Given the description of an element on the screen output the (x, y) to click on. 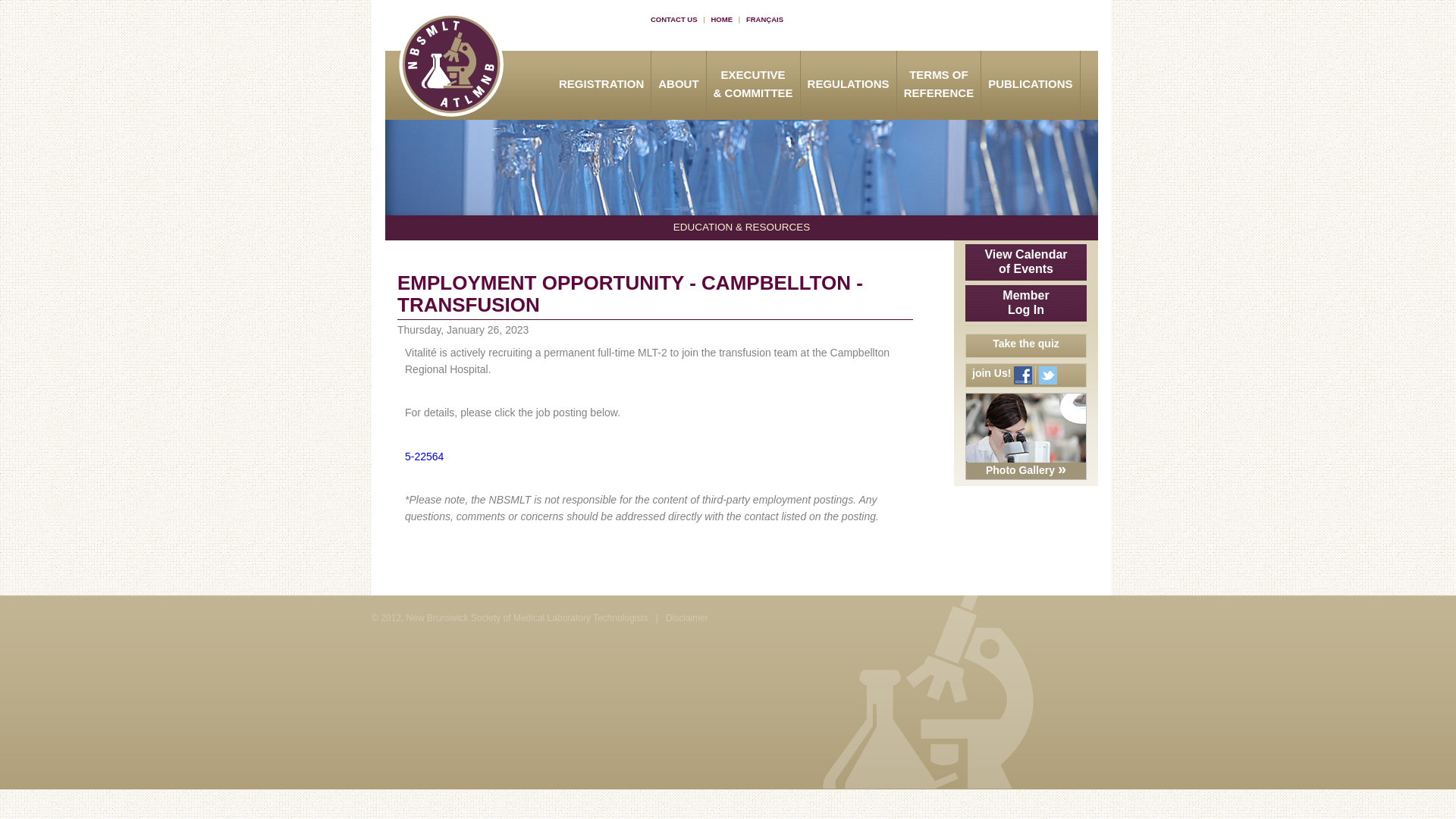
ABOUT (678, 79)
REGULATIONS (848, 84)
HOME (721, 19)
PUBLICATIONS (1029, 84)
CONTACT US (673, 19)
REGISTRATION (601, 84)
